Given the description of an element on the screen output the (x, y) to click on. 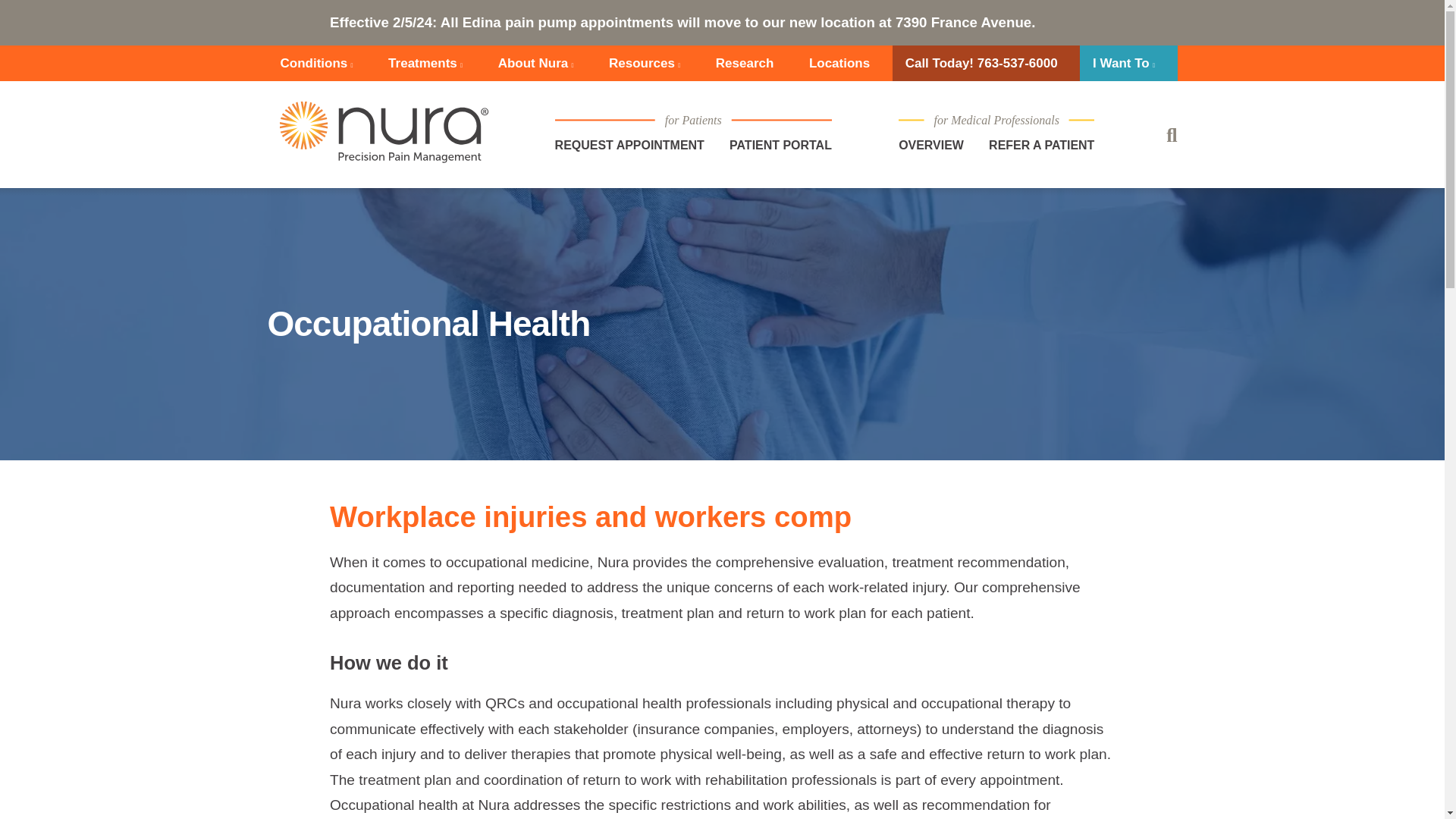
Treatments (425, 63)
Page 2 (722, 755)
Conditions (315, 63)
